Given the description of an element on the screen output the (x, y) to click on. 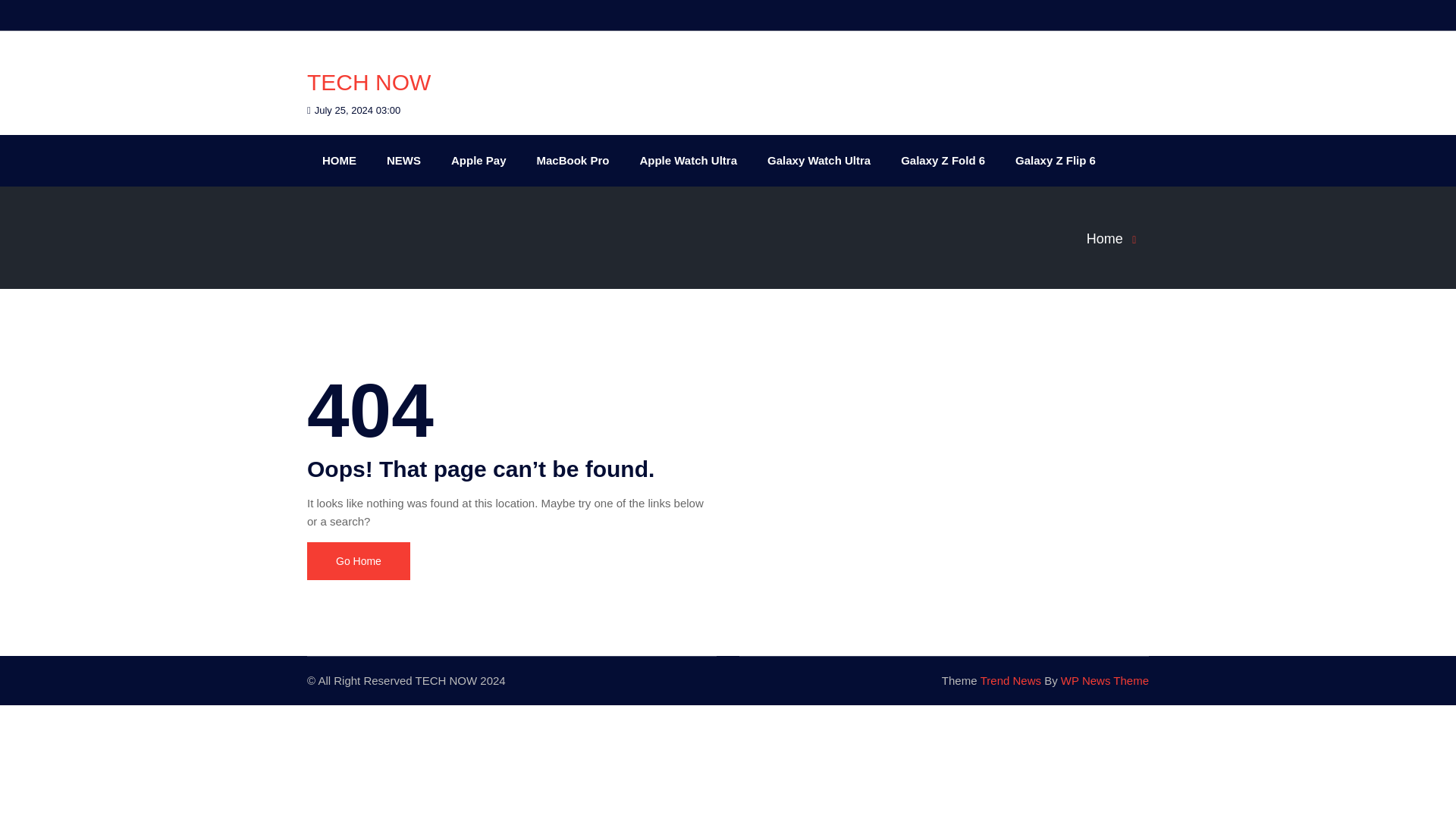
Galaxy Z Flip 6 (1055, 160)
Home (1115, 238)
Galaxy Z Flip 6 (1055, 160)
MacBook Pro (572, 160)
NEWS (403, 160)
NEWS (403, 160)
Apple Watch Ultra (688, 160)
Apple Pay (478, 160)
Galaxy Watch Ultra (818, 160)
MacBook Pro (572, 160)
Go Home (358, 560)
Galaxy Z Fold 6 (942, 160)
Galaxy Watch Ultra (818, 160)
HOME (339, 160)
WP News Theme (1104, 680)
